Given the description of an element on the screen output the (x, y) to click on. 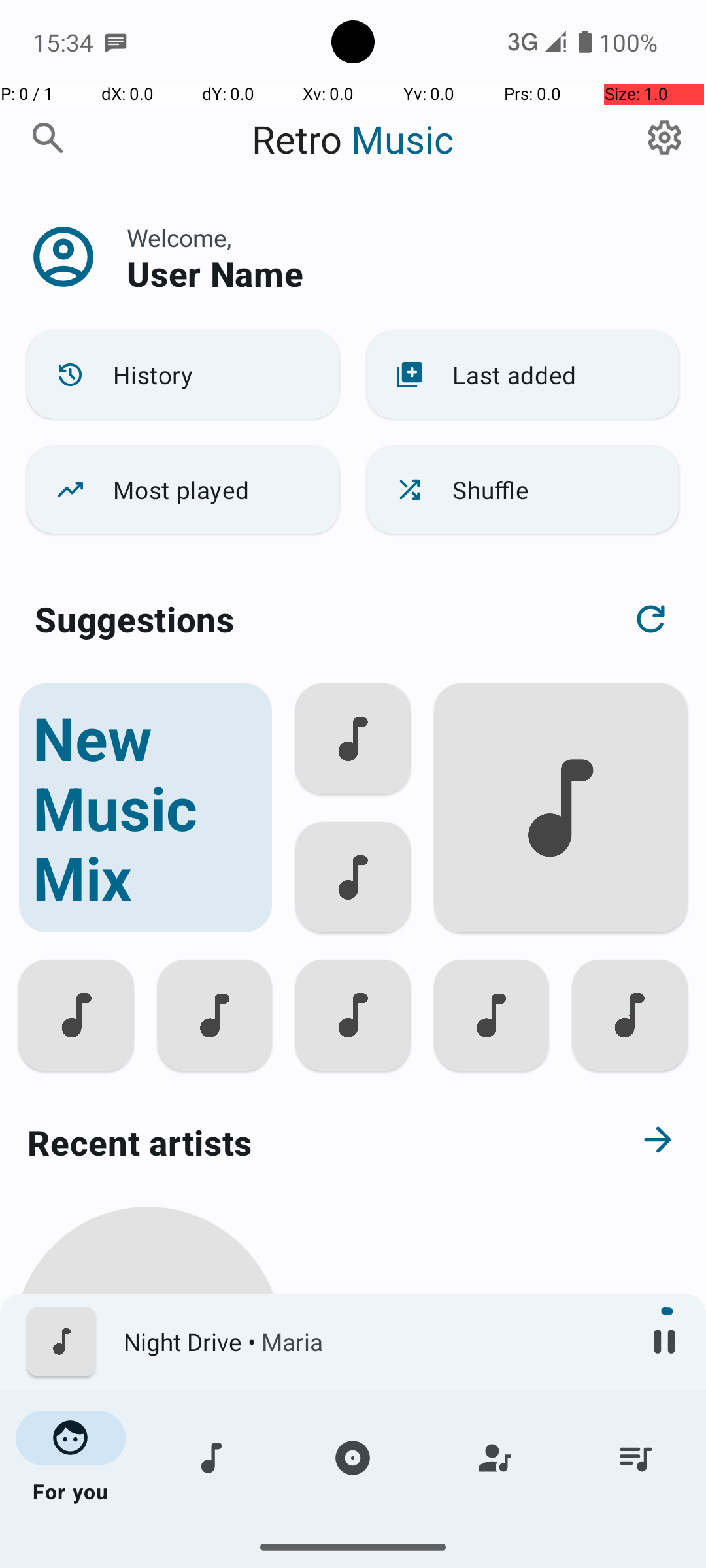
Night Drive • Maria Element type: android.widget.TextView (372, 1341)
Luca Element type: android.widget.TextView (147, 1503)
